Given the description of an element on the screen output the (x, y) to click on. 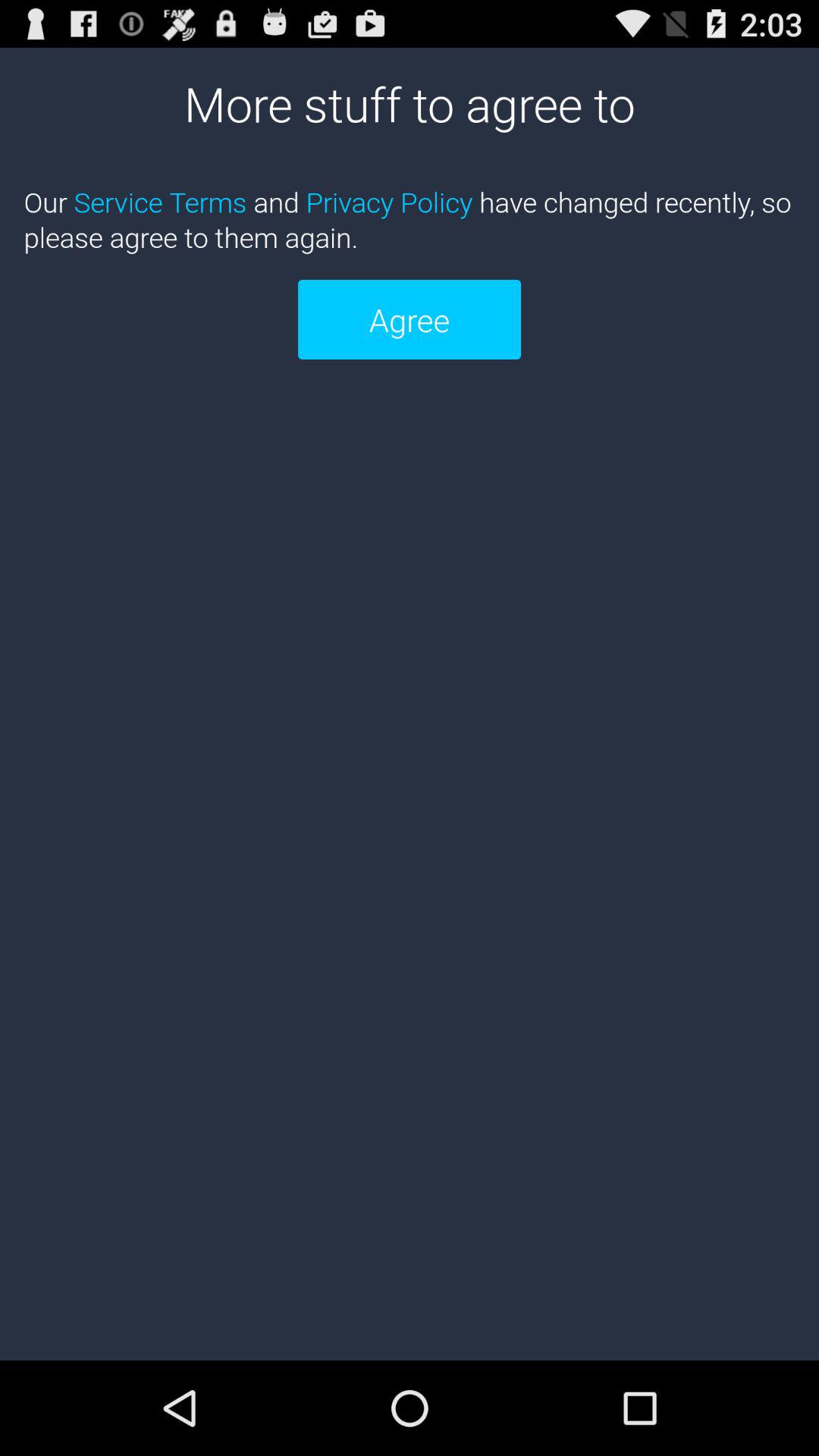
flip to our service terms (409, 219)
